Given the description of an element on the screen output the (x, y) to click on. 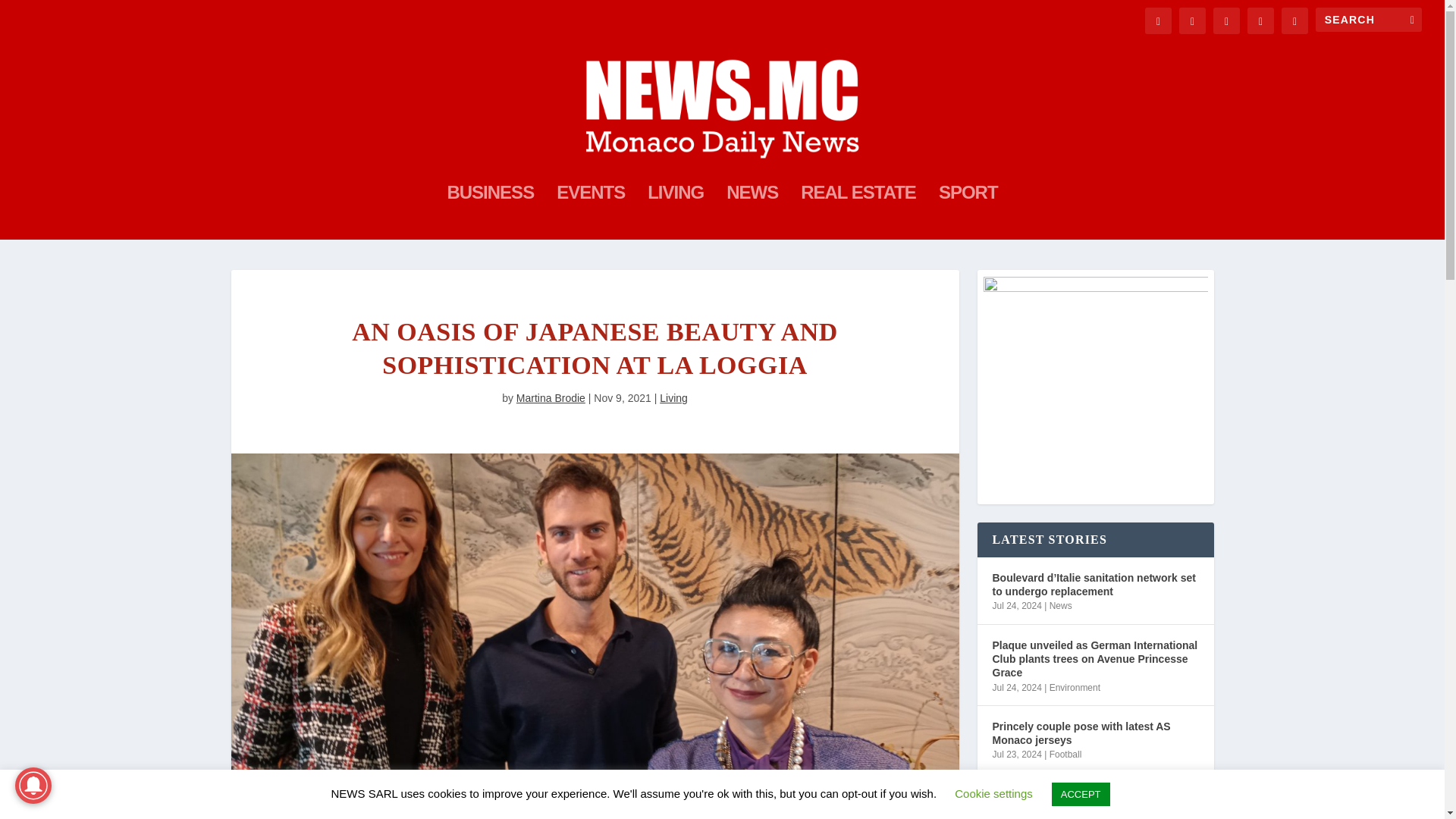
NEWS (751, 212)
REAL ESTATE (857, 212)
BUSINESS (490, 212)
LIVING (675, 212)
Posts by Martina Brodie (550, 398)
Search for: (1369, 19)
SPORT (968, 212)
EVENTS (590, 212)
